Given the description of an element on the screen output the (x, y) to click on. 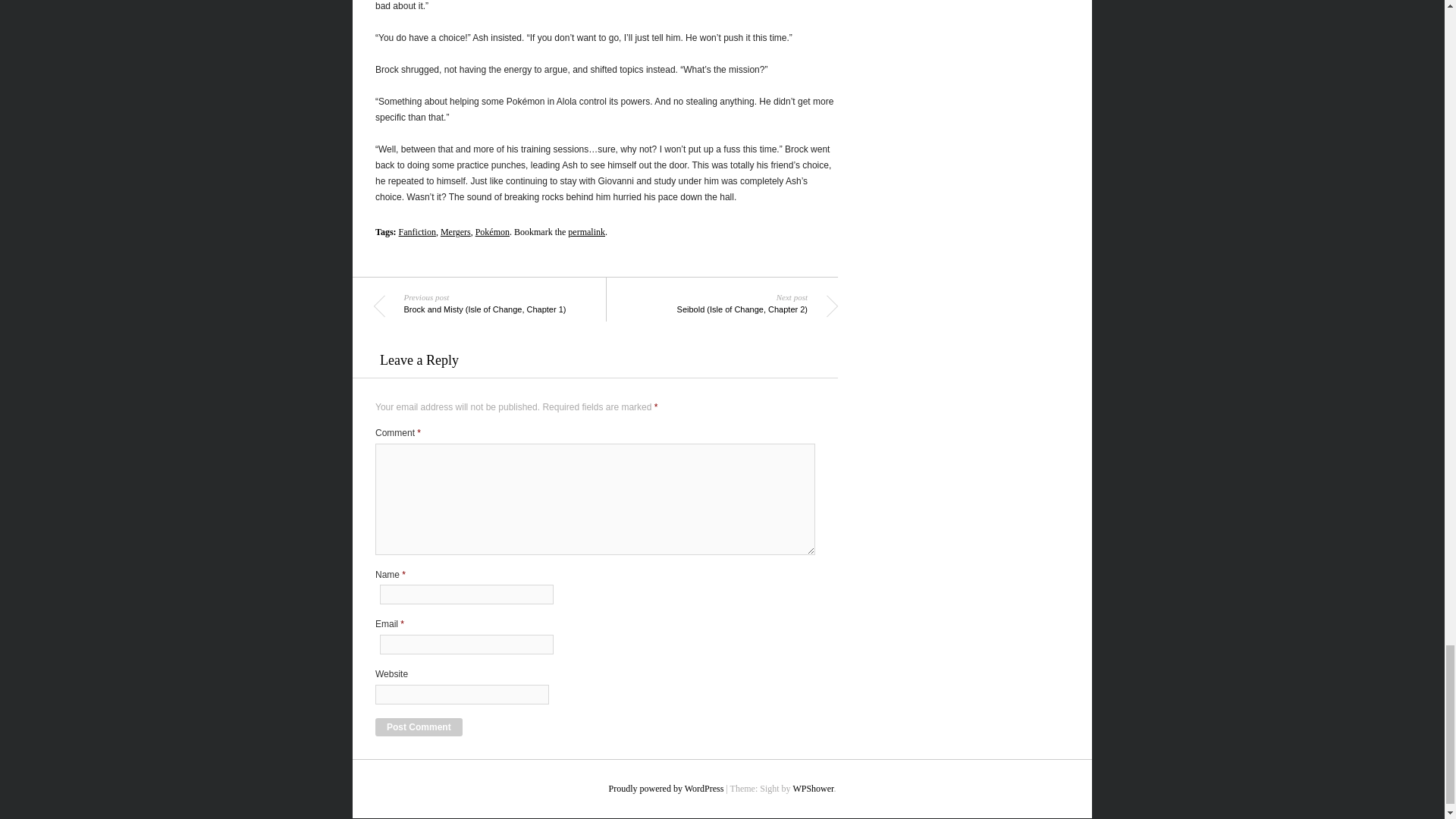
Mergers (455, 231)
Post Comment (419, 727)
permalink (586, 231)
Post Comment (419, 727)
Fanfiction (416, 231)
A Semantic Personal Publishing Platform (665, 787)
